Given the description of an element on the screen output the (x, y) to click on. 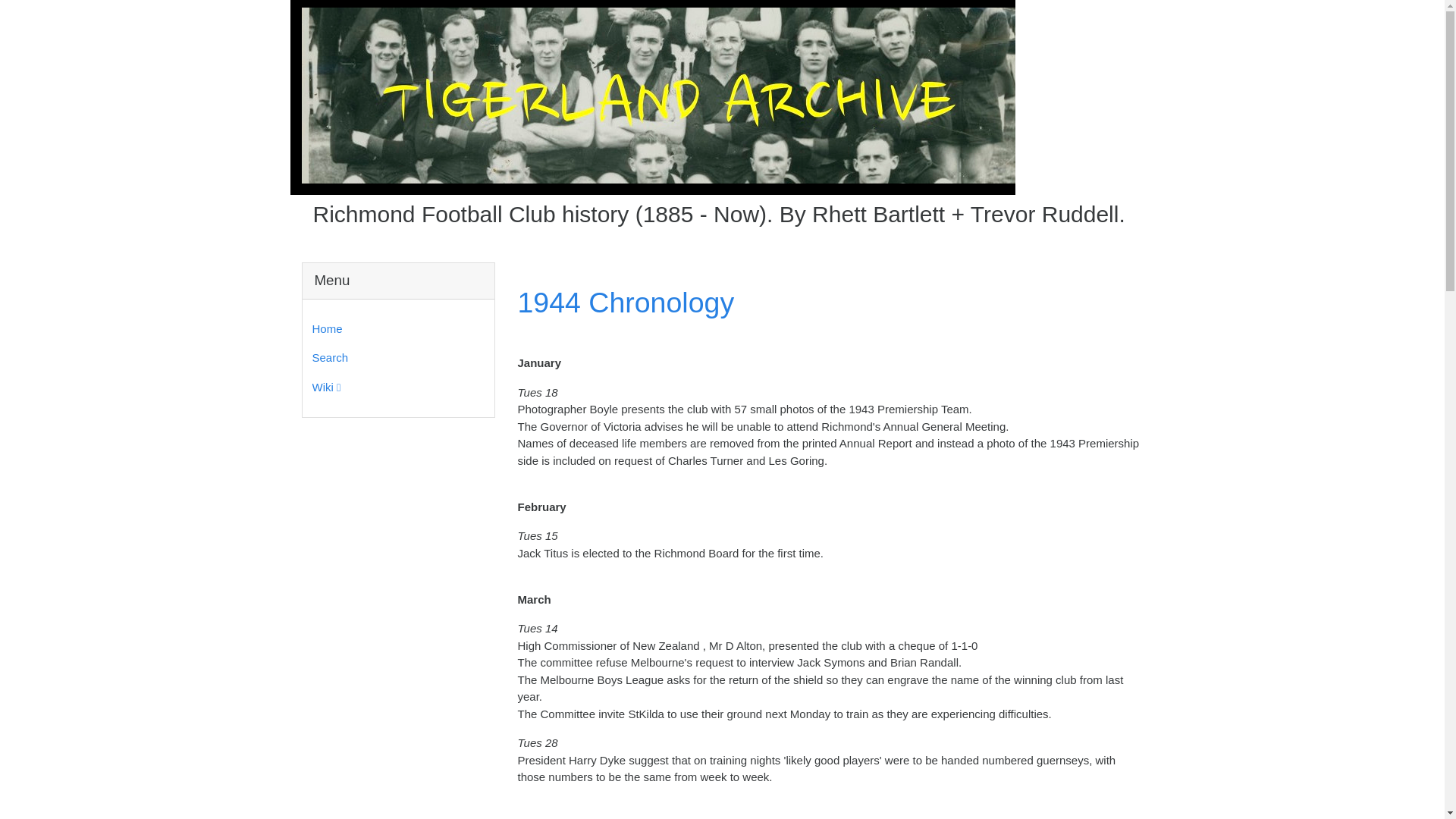
Tigerland Archive (651, 95)
Search (396, 358)
Wiki  (396, 387)
Home (396, 328)
1944 Chronology (624, 302)
refresh (624, 302)
